Given the description of an element on the screen output the (x, y) to click on. 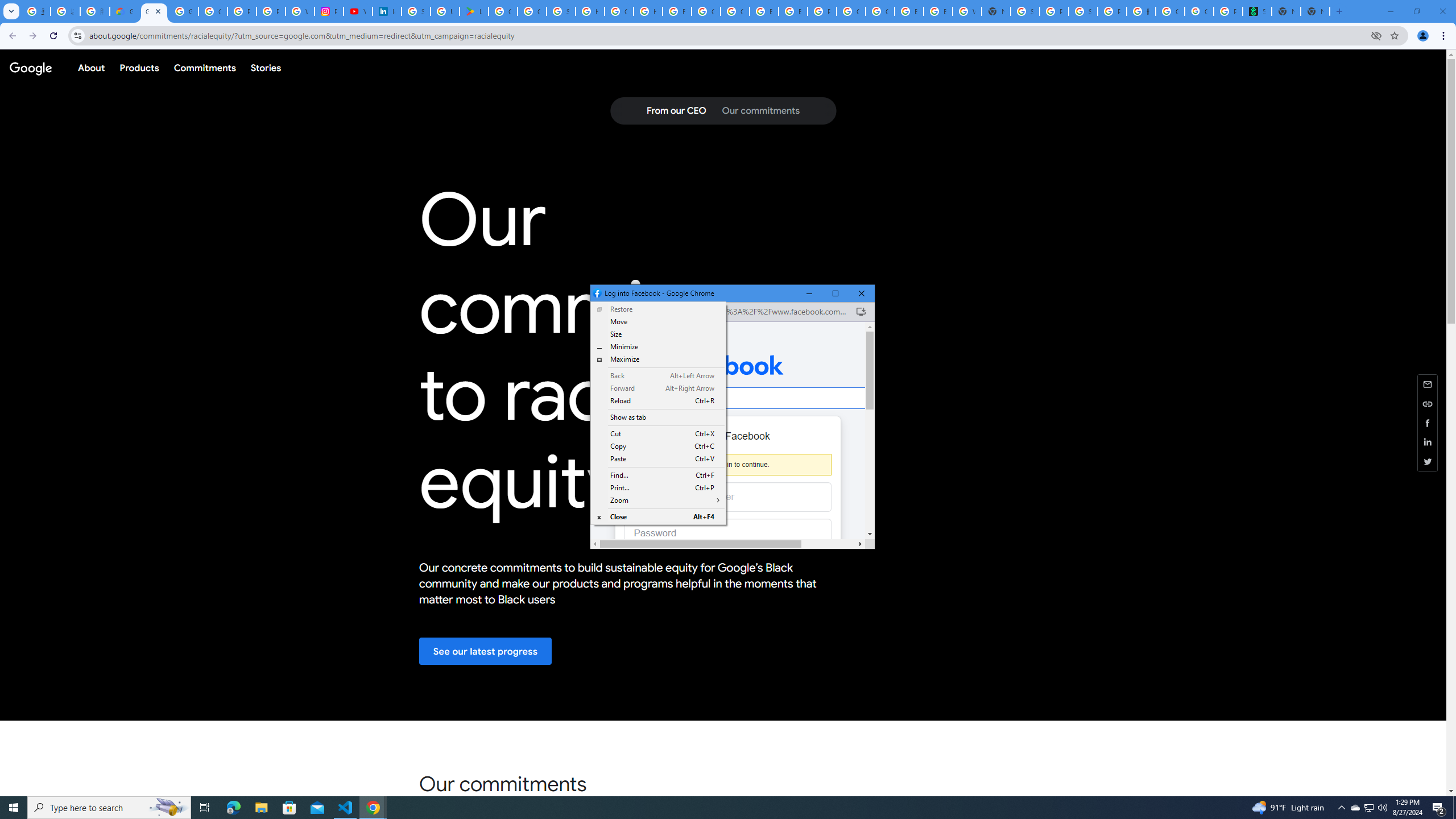
Task View (204, 807)
Microsoft Edge (233, 807)
Visual Studio Code - 1 running window (345, 807)
Back	Alt+Left Arrow (658, 375)
Password (719, 533)
Notification Chevron (1341, 807)
Start (13, 807)
Move (658, 321)
Cut	Ctrl+X (658, 433)
Zoom (658, 499)
Paste	Ctrl+V (658, 458)
Copy	Ctrl+C (658, 446)
Action Center, 2 new notifications (1439, 807)
Facebook (727, 365)
